Given the description of an element on the screen output the (x, y) to click on. 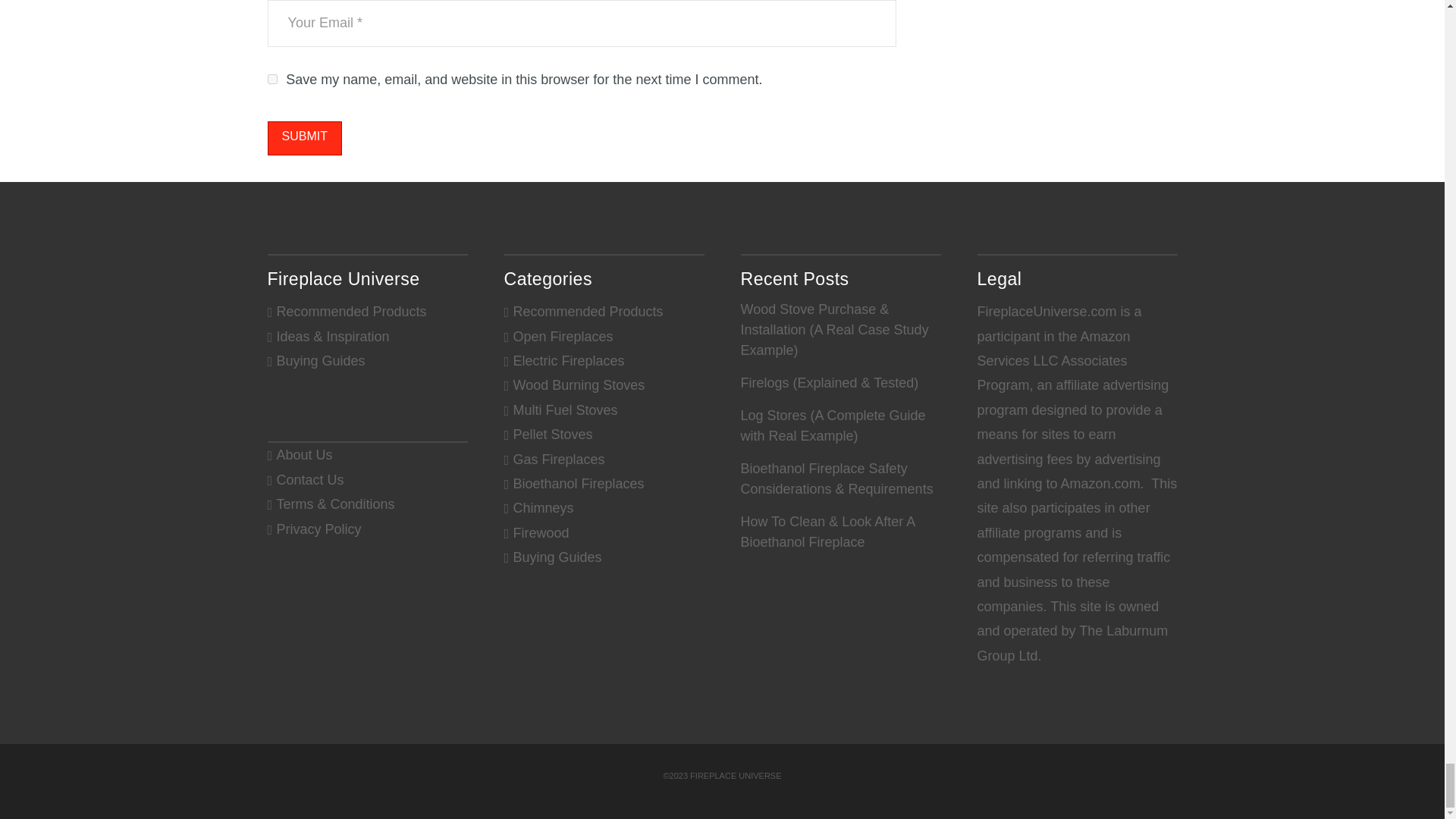
Submit (303, 138)
yes (271, 79)
